Given the description of an element on the screen output the (x, y) to click on. 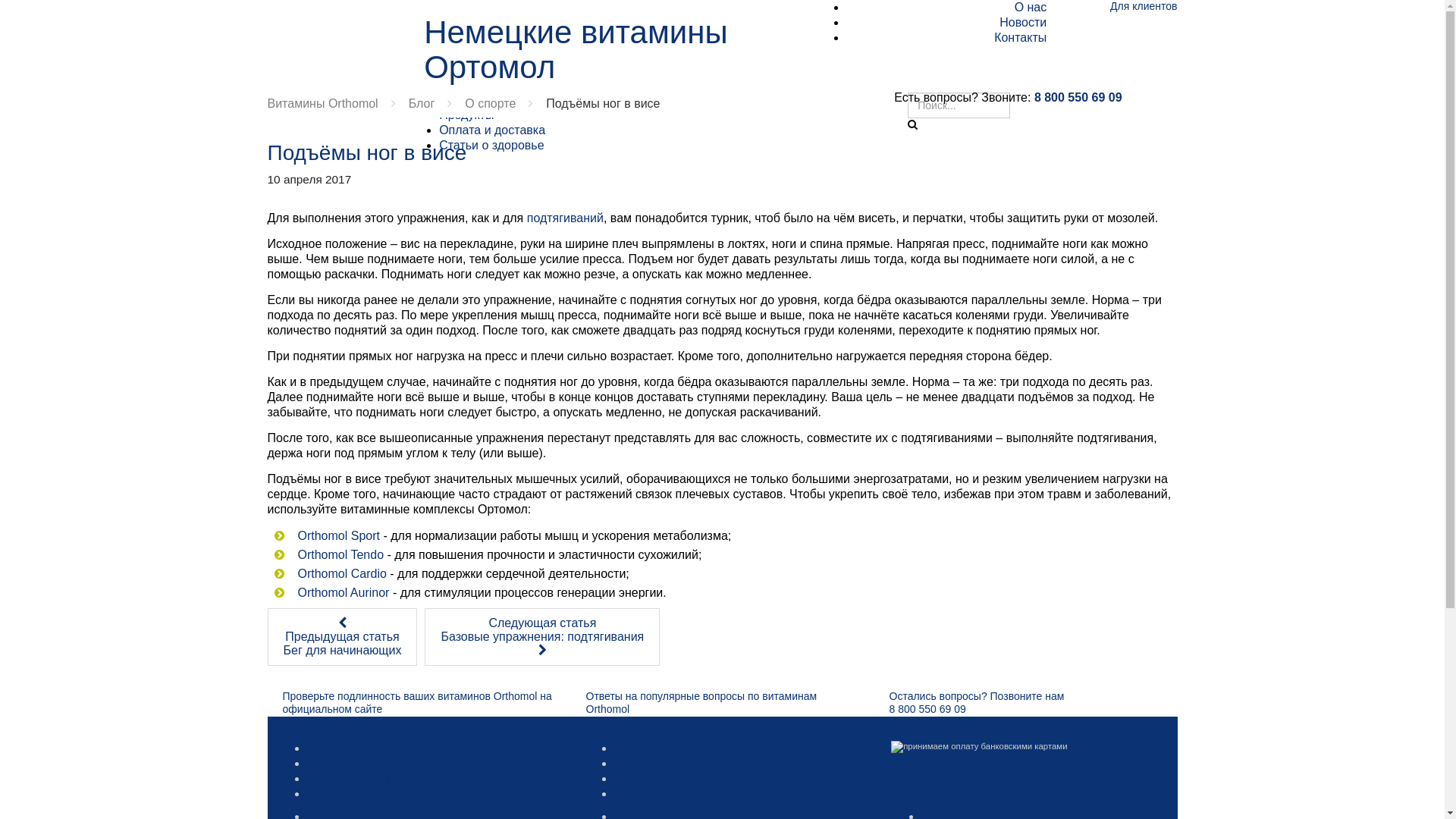
Orthomol Tendo Element type: text (340, 554)
Orthomol Cardio Element type: text (341, 573)
Orthomol Sport Element type: text (338, 535)
Orthomol Aurinor Element type: text (343, 592)
8 800 550 69 09 Element type: text (1078, 97)
